Given the description of an element on the screen output the (x, y) to click on. 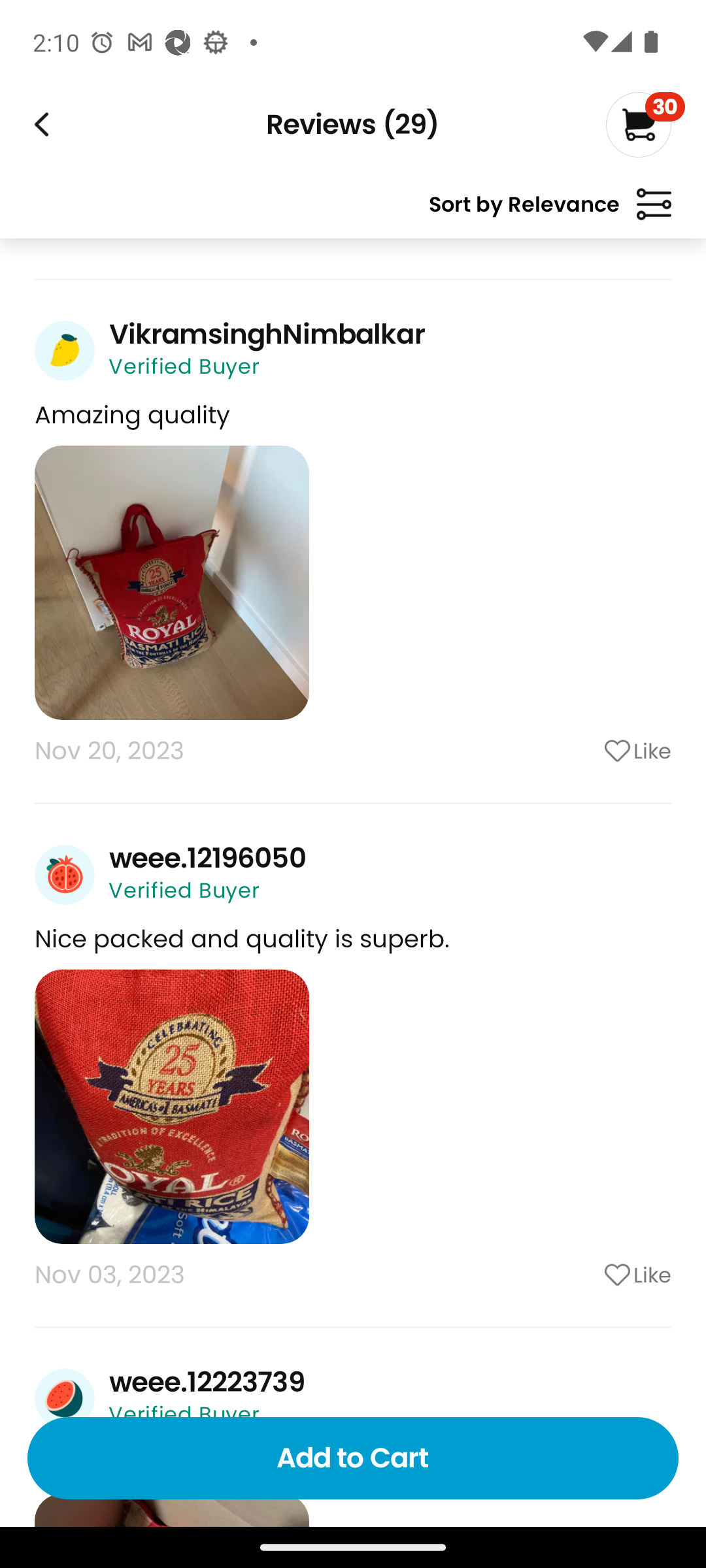
30 (644, 124)
Sort by Relevance (549, 212)
VikramsinghNimbalkar (266, 333)
Verified Buyer (183, 366)
Like (585, 750)
weee.12196050 (206, 858)
Verified Buyer (183, 889)
Like (585, 1274)
weee.12223739 (206, 1381)
Add to Cart (352, 1458)
